Given the description of an element on the screen output the (x, y) to click on. 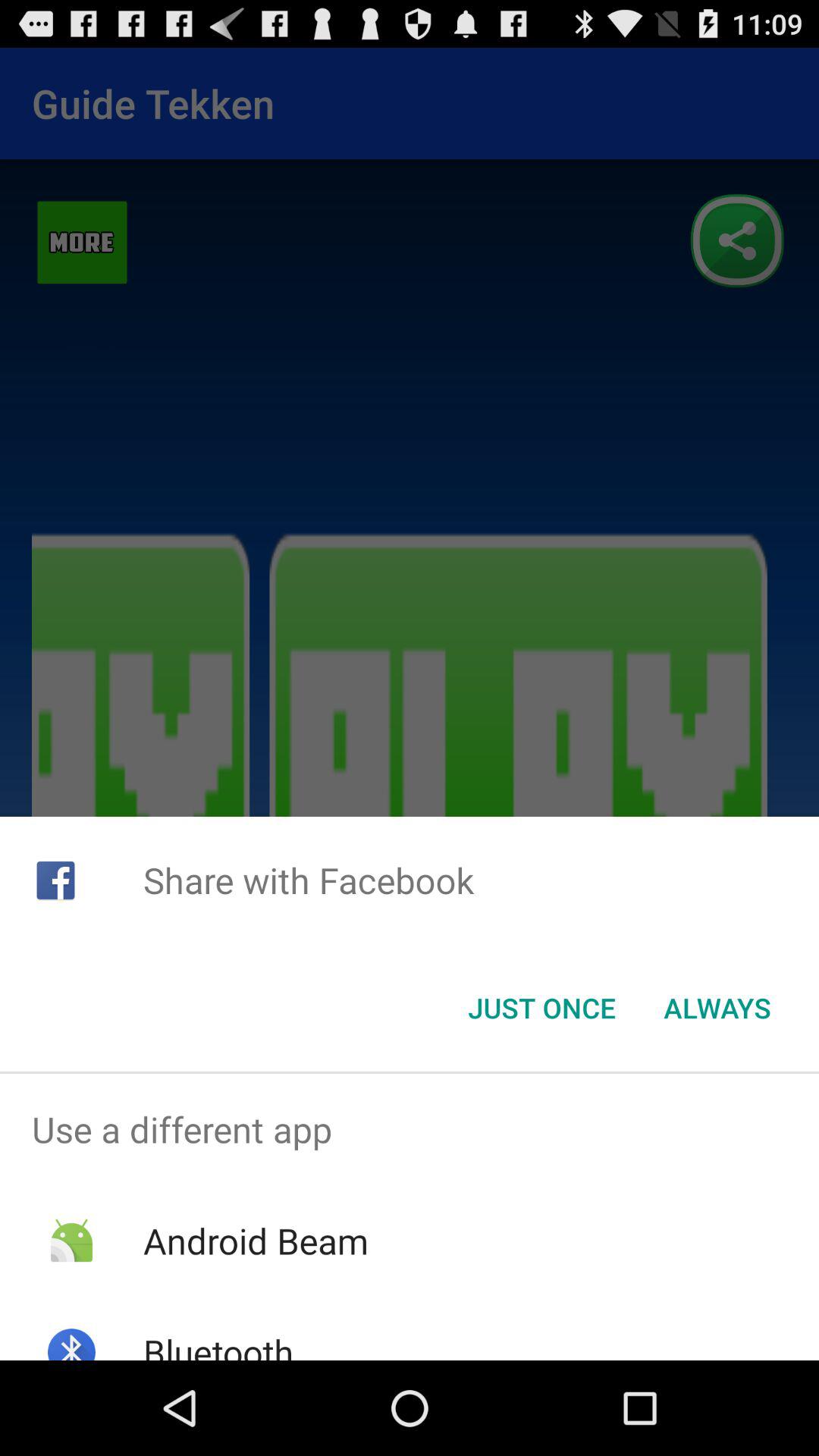
select the item below the share with facebook (717, 1007)
